Given the description of an element on the screen output the (x, y) to click on. 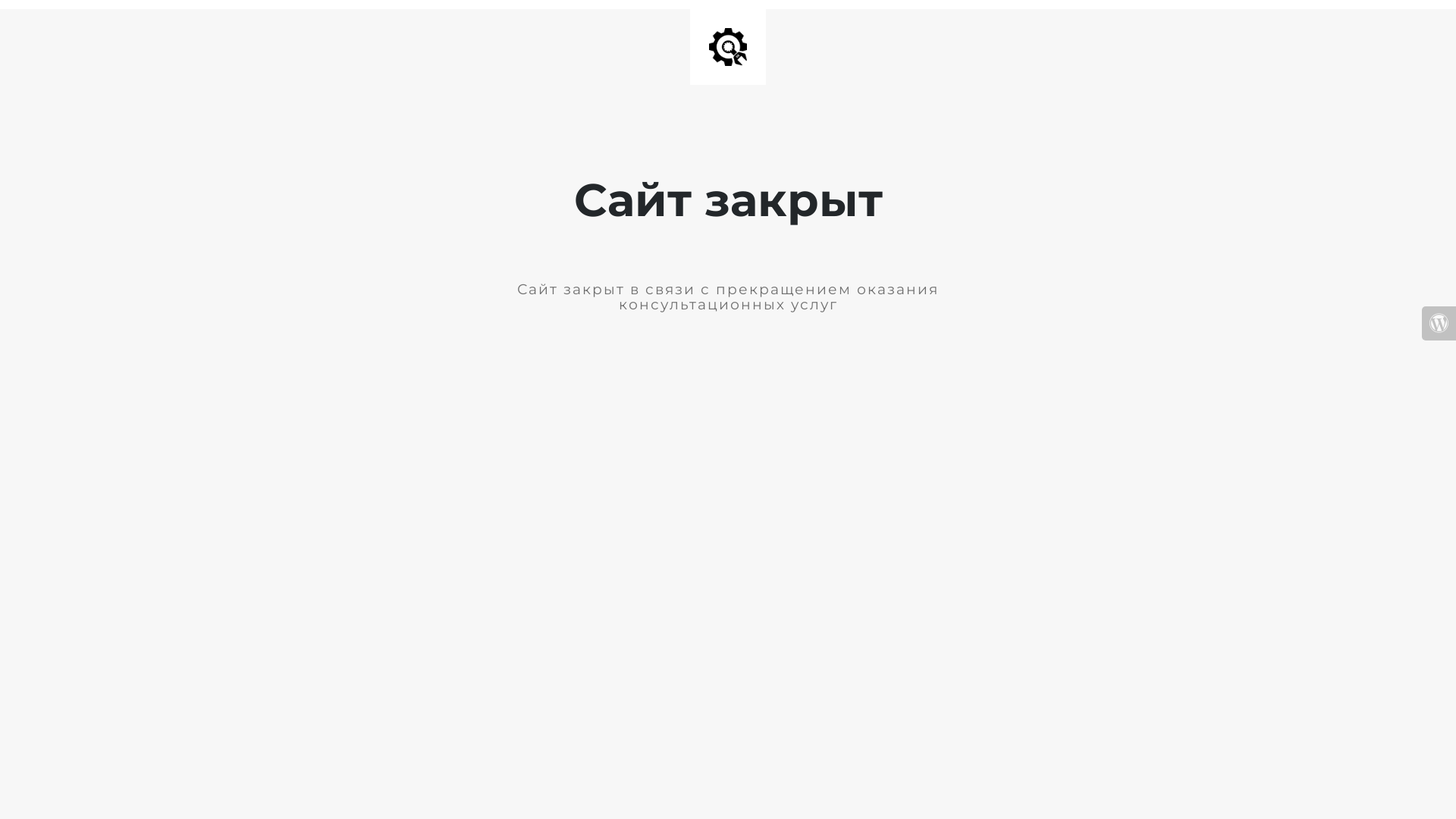
Site is Under Construction Element type: hover (727, 46)
